Given the description of an element on the screen output the (x, y) to click on. 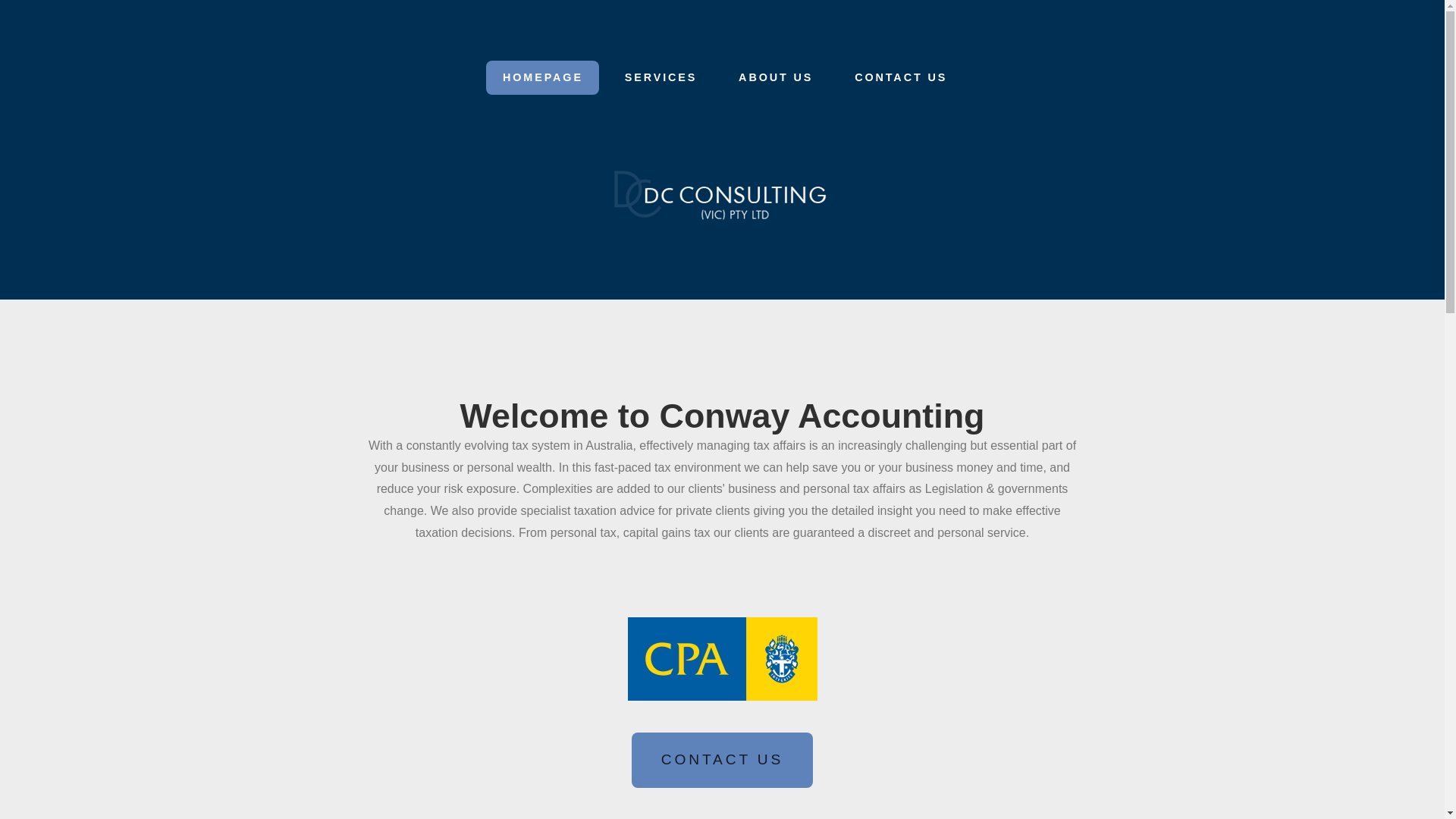
SERVICES Element type: text (660, 77)
HOMEPAGE Element type: text (542, 77)
ABOUT US Element type: text (775, 77)
CONTACT US Element type: text (721, 759)
CONTACT US Element type: text (900, 77)
